Given the description of an element on the screen output the (x, y) to click on. 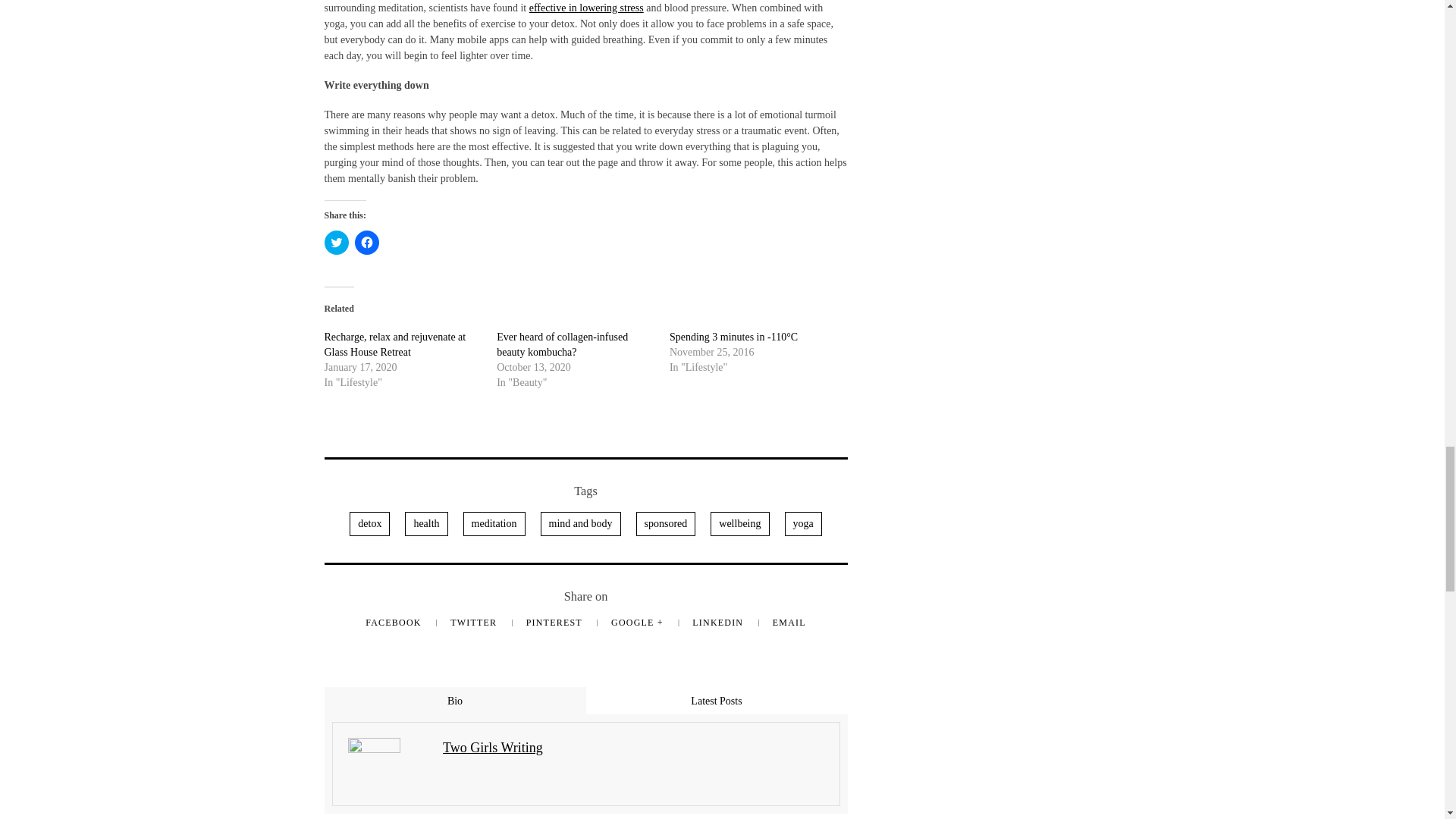
Click to share on Twitter (336, 242)
Recharge, relax and rejuvenate at Glass House Retreat (394, 344)
Click to share on Facebook (366, 242)
Ever heard of collagen-infused beauty kombucha? (561, 344)
